Given the description of an element on the screen output the (x, y) to click on. 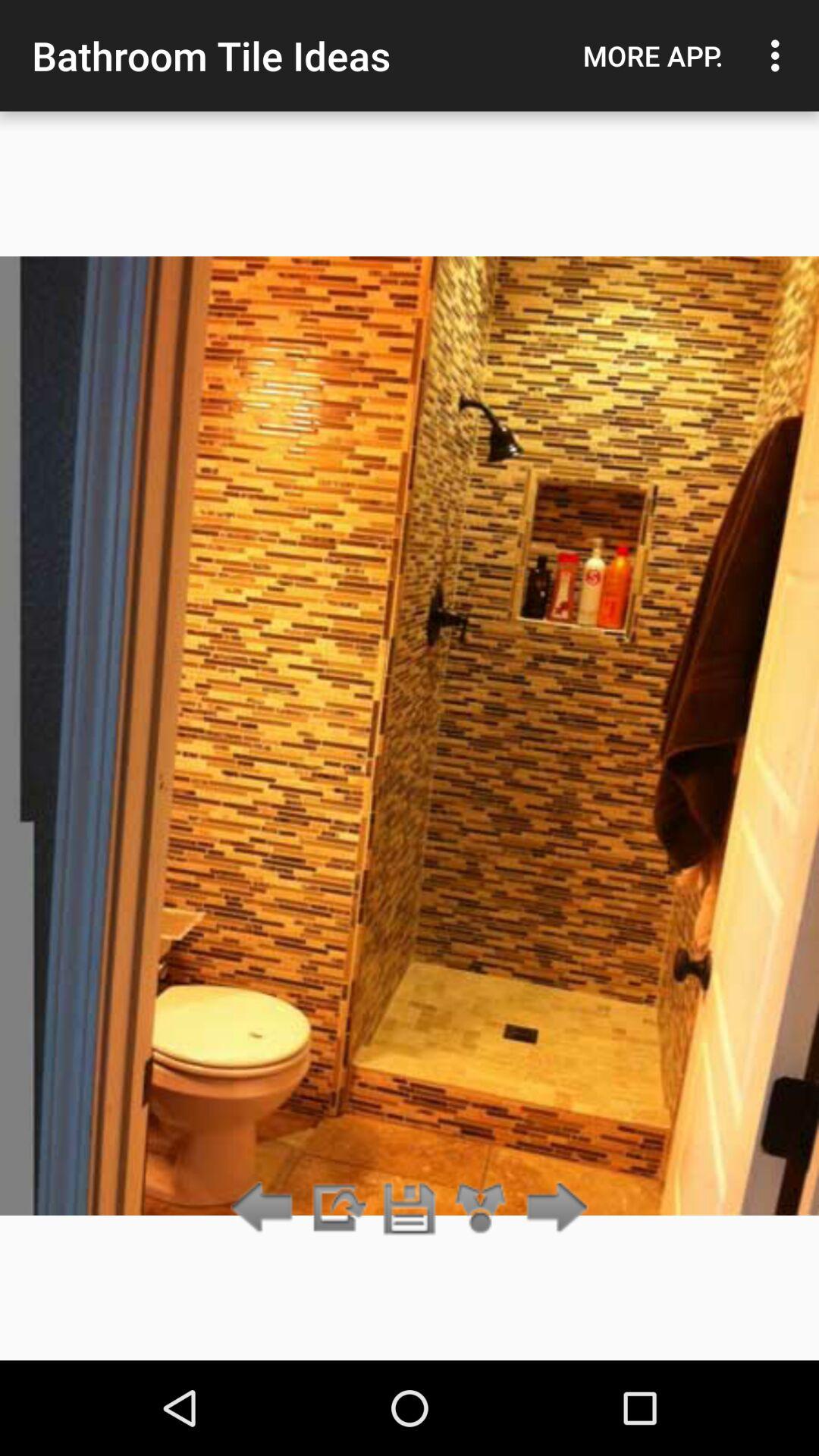
go to next item (337, 1208)
